Given the description of an element on the screen output the (x, y) to click on. 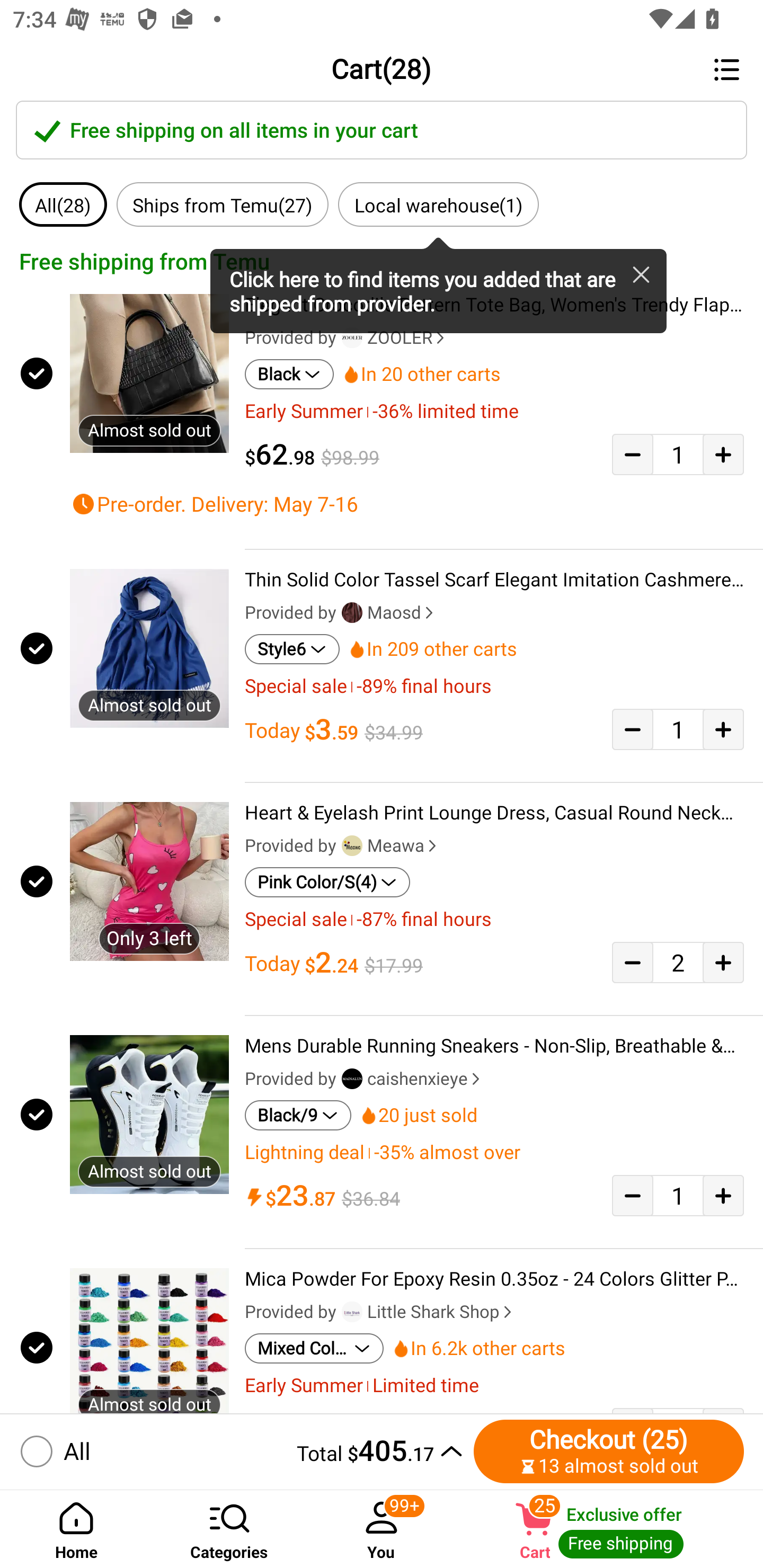
Free shipping on all items in your cart (381, 129)
All (28) (62, 204)
Ships from Temu (27) (222, 204)
Local warehouse (1) (438, 204)
Product checkbox checked (35, 373)
Provided by ZOOLER (346, 337)
Black (289, 373)
Early Summer | -36% limited time (493, 411)
Decrease quantity button (632, 454)
1 (677, 454)
Add quantity button (722, 454)
 Pre-order. Delivery: May 7-16 (406, 503)
Product checkbox checked (35, 648)
Provided by Maosd (340, 612)
Style6 (291, 648)
Decrease quantity button (632, 728)
1 (677, 728)
Add quantity button (722, 728)
Product checkbox checked (35, 881)
Provided by Meawa (342, 845)
Pink Color/S(4) (327, 881)
Special sale | -87% final hours (493, 919)
Decrease quantity button (632, 962)
2 (677, 962)
Add quantity button (722, 962)
Product checkbox checked (35, 1113)
Provided by caishenxieye (363, 1078)
Black/9 (297, 1115)
Decrease quantity button (632, 1195)
1 (677, 1195)
Add quantity button (722, 1195)
Product checkbox checked (35, 1344)
Provided by Little Shark Shop (379, 1311)
Mixed Color (313, 1348)
Early Summer | Limited time (493, 1386)
Select all tick button (31, 1450)
Total $405.17 (283, 1450)
Checkout Checkout (25) ￼13 almost sold out (608, 1451)
Home (76, 1528)
Categories (228, 1528)
You ‎99+‎ You (381, 1528)
Cart 25 Cart Exclusive offer (610, 1528)
